Given the description of an element on the screen output the (x, y) to click on. 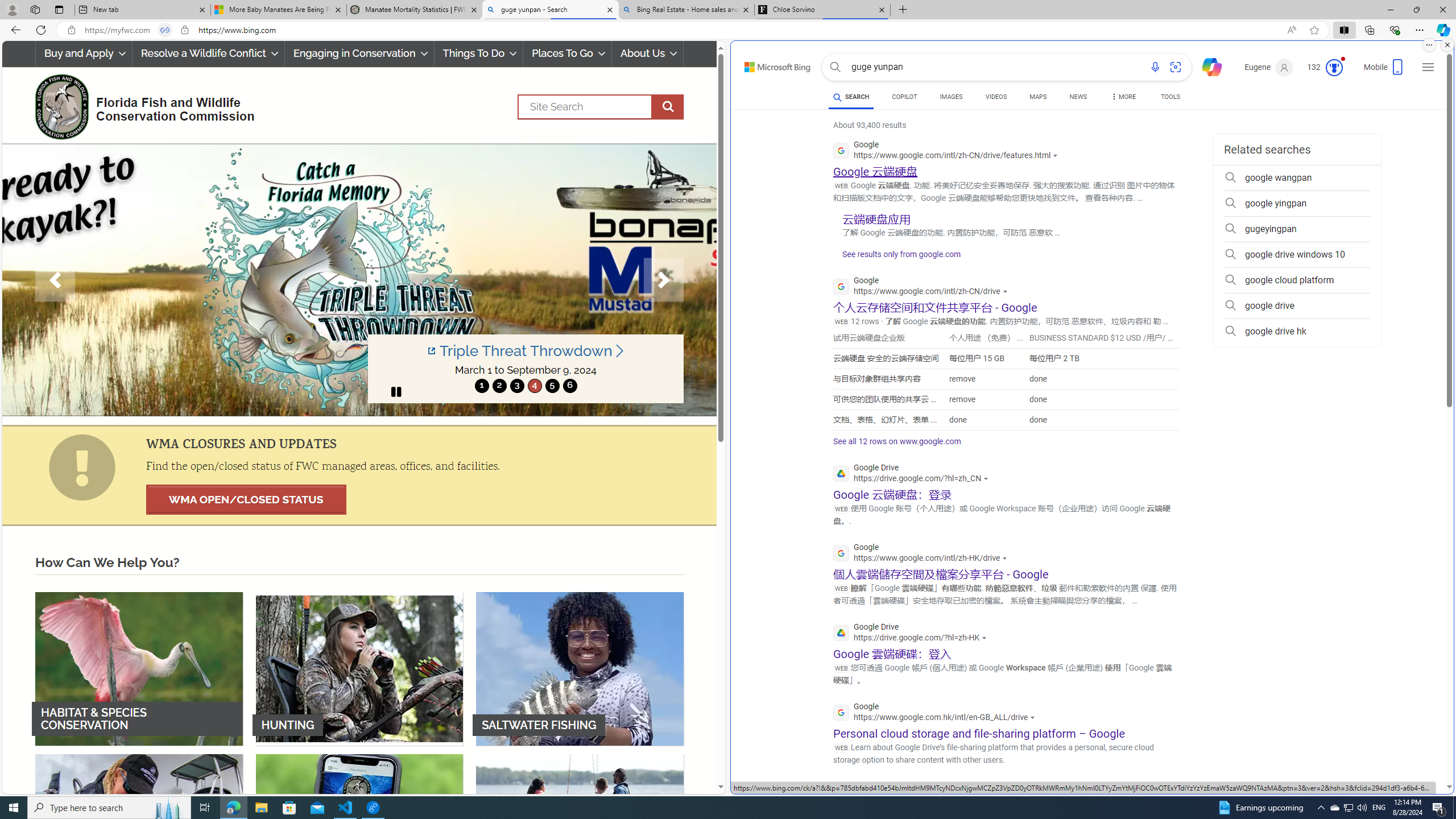
FWC Logo Florida Fish and Wildlife Conservation Commission (139, 104)
COPILOT (903, 98)
google yingpan (1297, 203)
IMAGES (950, 98)
Buy and Apply (83, 53)
google drive windows 10 (1297, 254)
Restore (1416, 9)
4 (534, 385)
1 (481, 385)
